Given the description of an element on the screen output the (x, y) to click on. 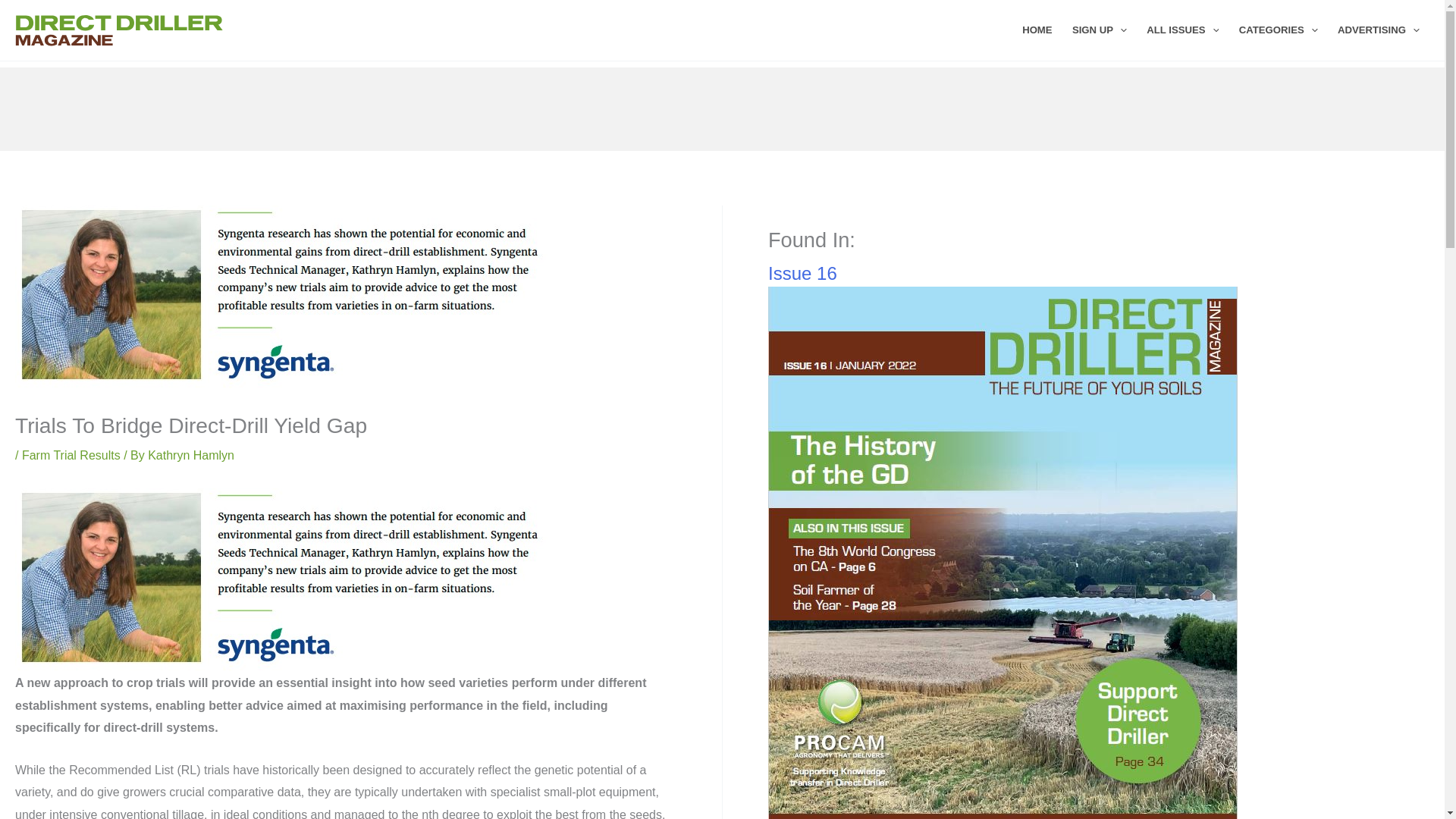
ALL ISSUES (1182, 30)
ADVERTISING (1378, 30)
CATEGORIES (1277, 30)
SIGN UP (1099, 30)
View all posts by Kathryn Hamlyn (191, 454)
